Given the description of an element on the screen output the (x, y) to click on. 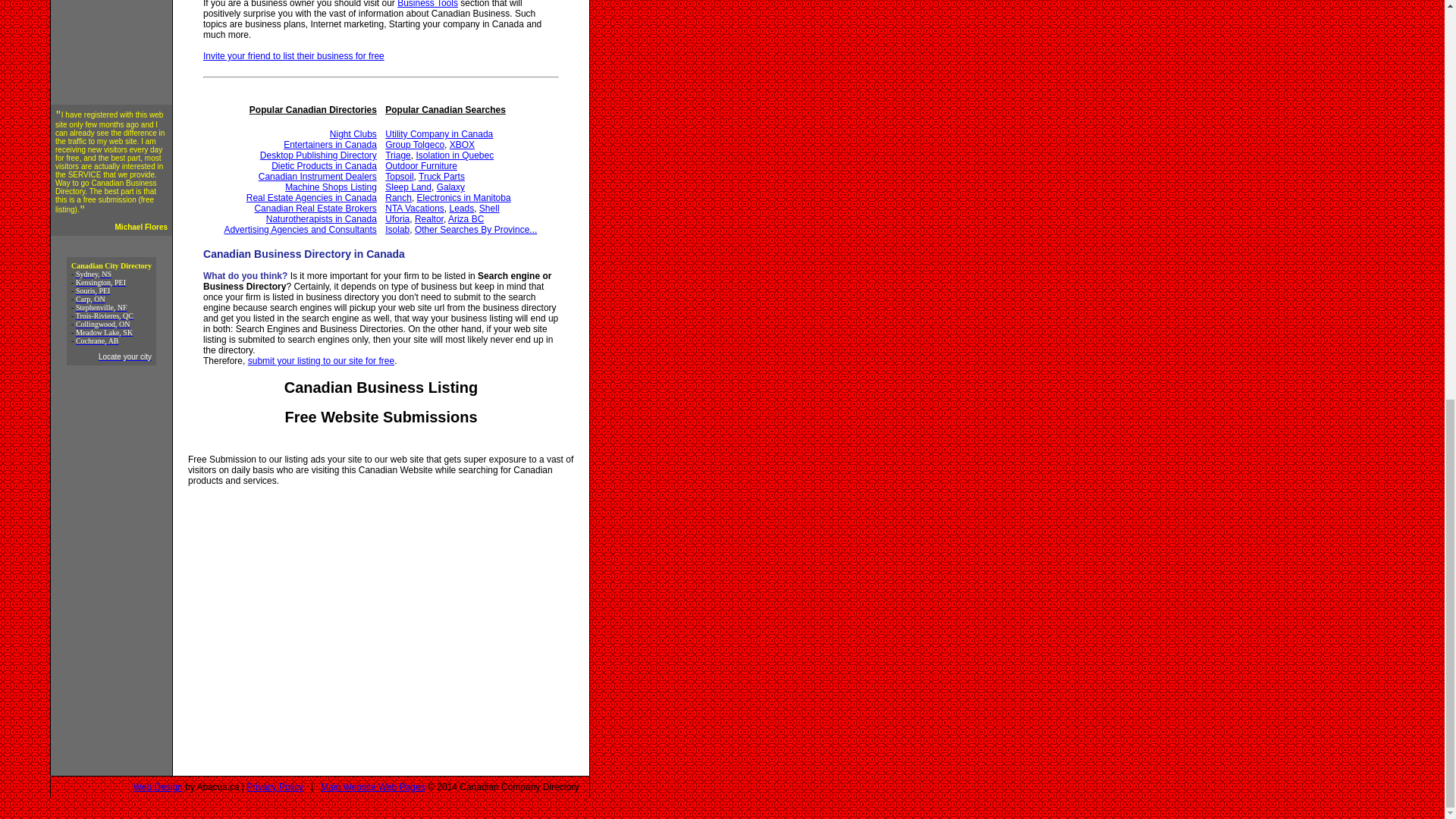
Collingwood, ON (103, 324)
Locate your city (125, 356)
Trois-Rivieres, QC (104, 316)
Carp, ON (89, 298)
Night Clubs (353, 133)
Business Tools (427, 4)
Cochrane, AB (97, 340)
Meadow Lake, SK (103, 332)
Stephenville, NF (101, 307)
Invite your friend to list their business for free (293, 55)
Souris, PEI (92, 290)
Sydney, NS (93, 274)
Kensington, PEI (100, 282)
